Given the description of an element on the screen output the (x, y) to click on. 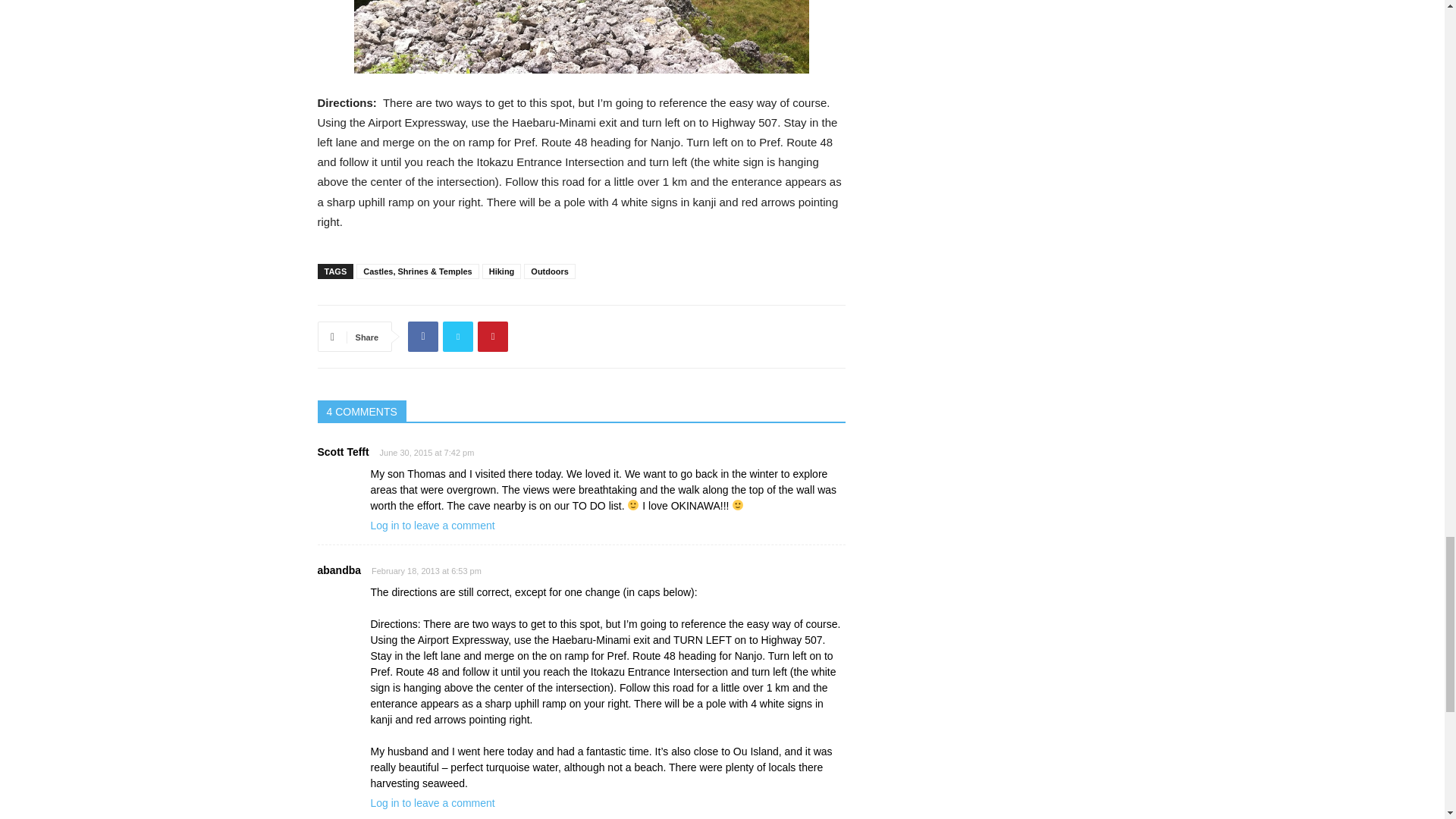
Itokazu 4 (580, 36)
